Given the description of an element on the screen output the (x, y) to click on. 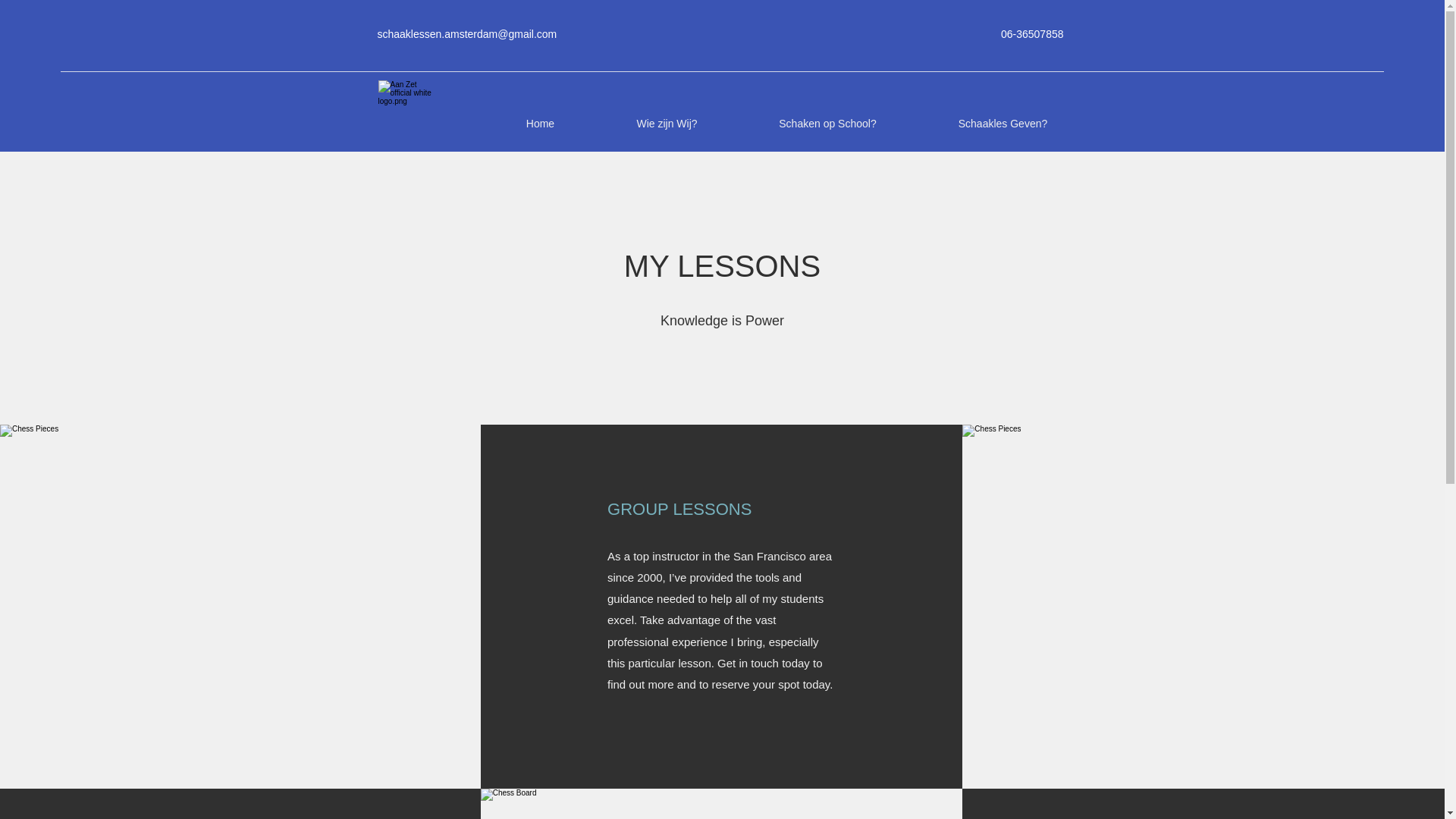
Wie zijn Wij? (666, 123)
Schaken op School? (827, 123)
Home (539, 123)
Schaakles Geven? (1003, 123)
